Given the description of an element on the screen output the (x, y) to click on. 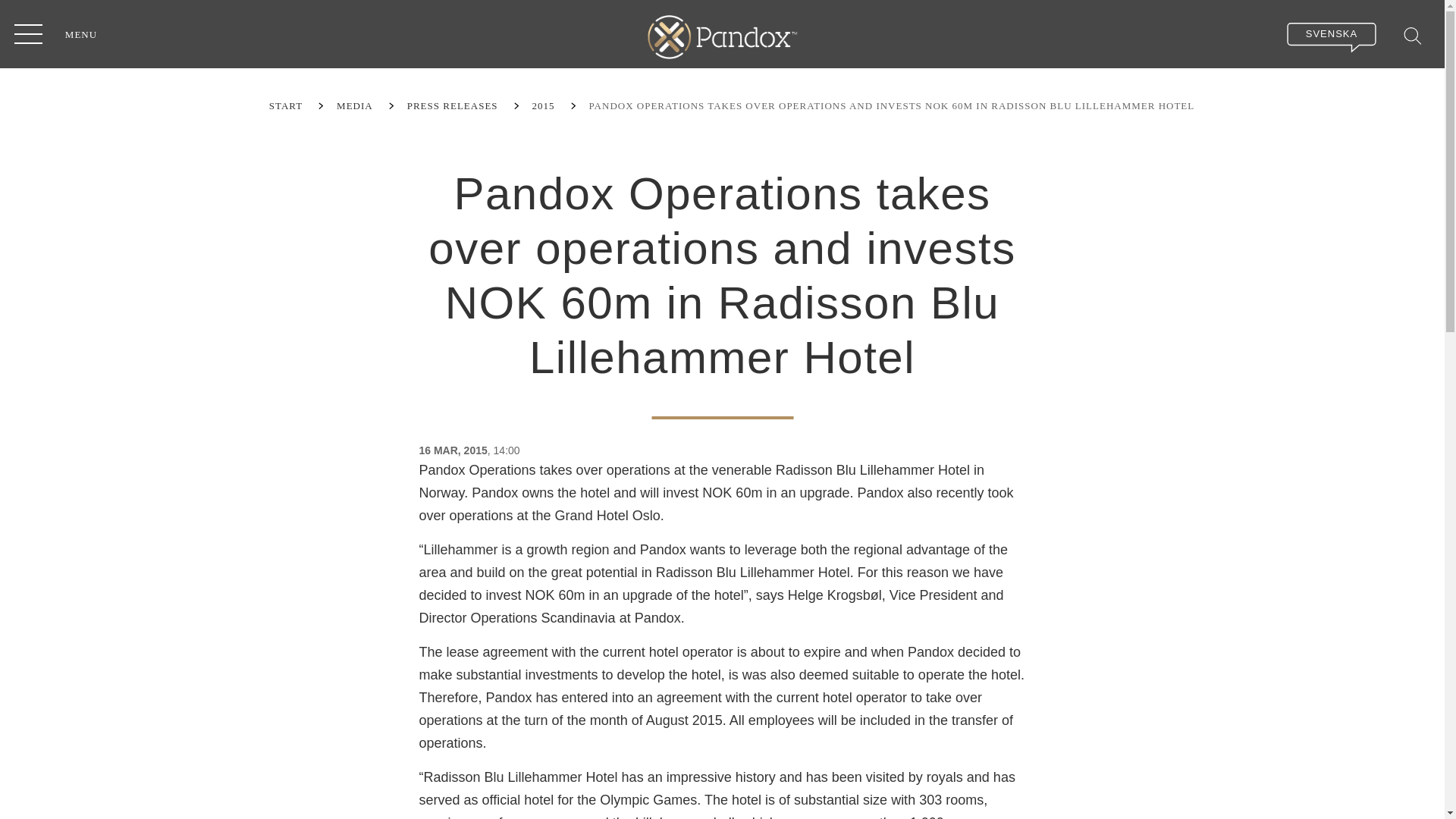
MENU (28, 33)
